Given the description of an element on the screen output the (x, y) to click on. 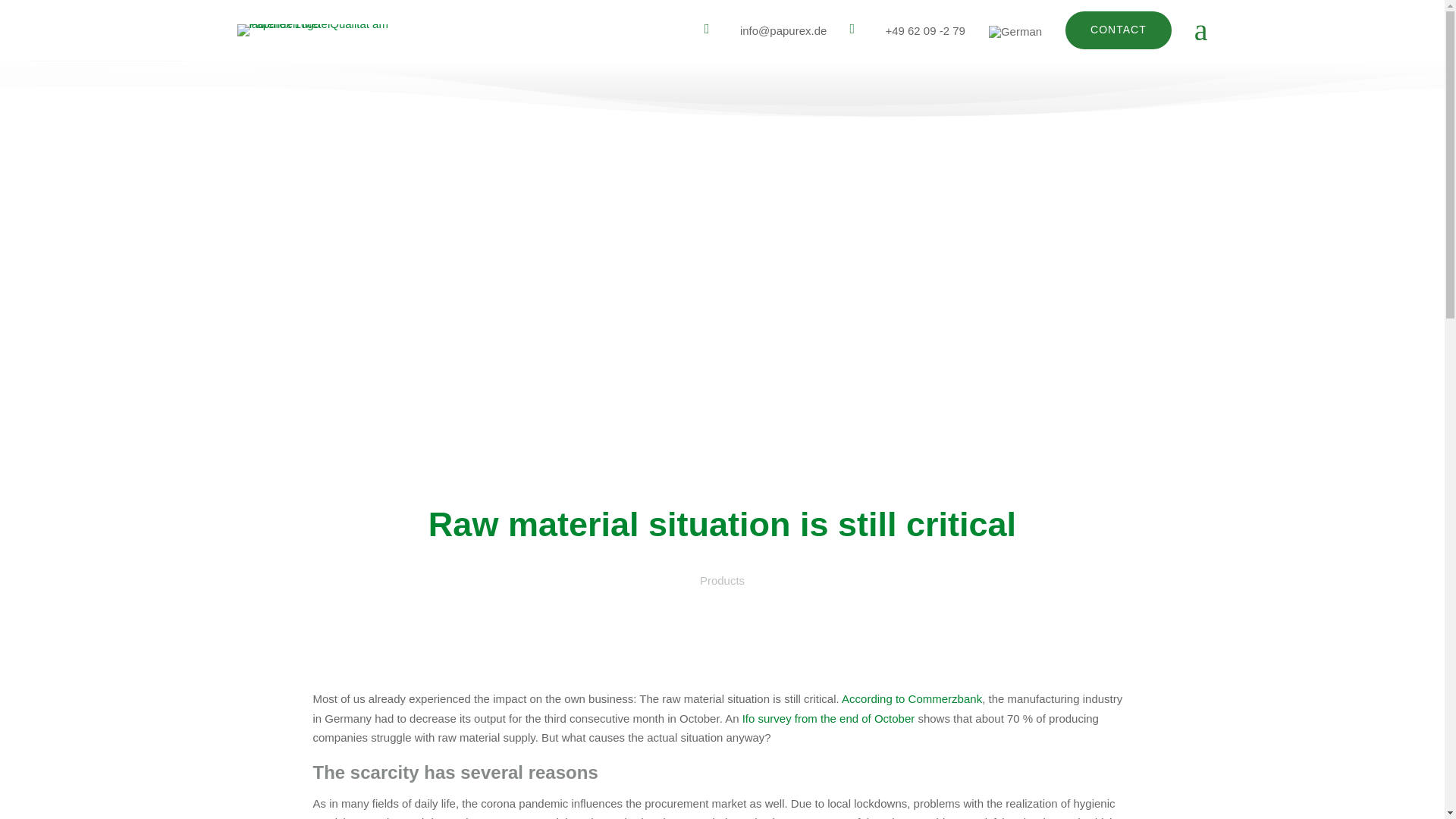
Papurex Logo (330, 30)
CONTACT (1118, 30)
